Given the description of an element on the screen output the (x, y) to click on. 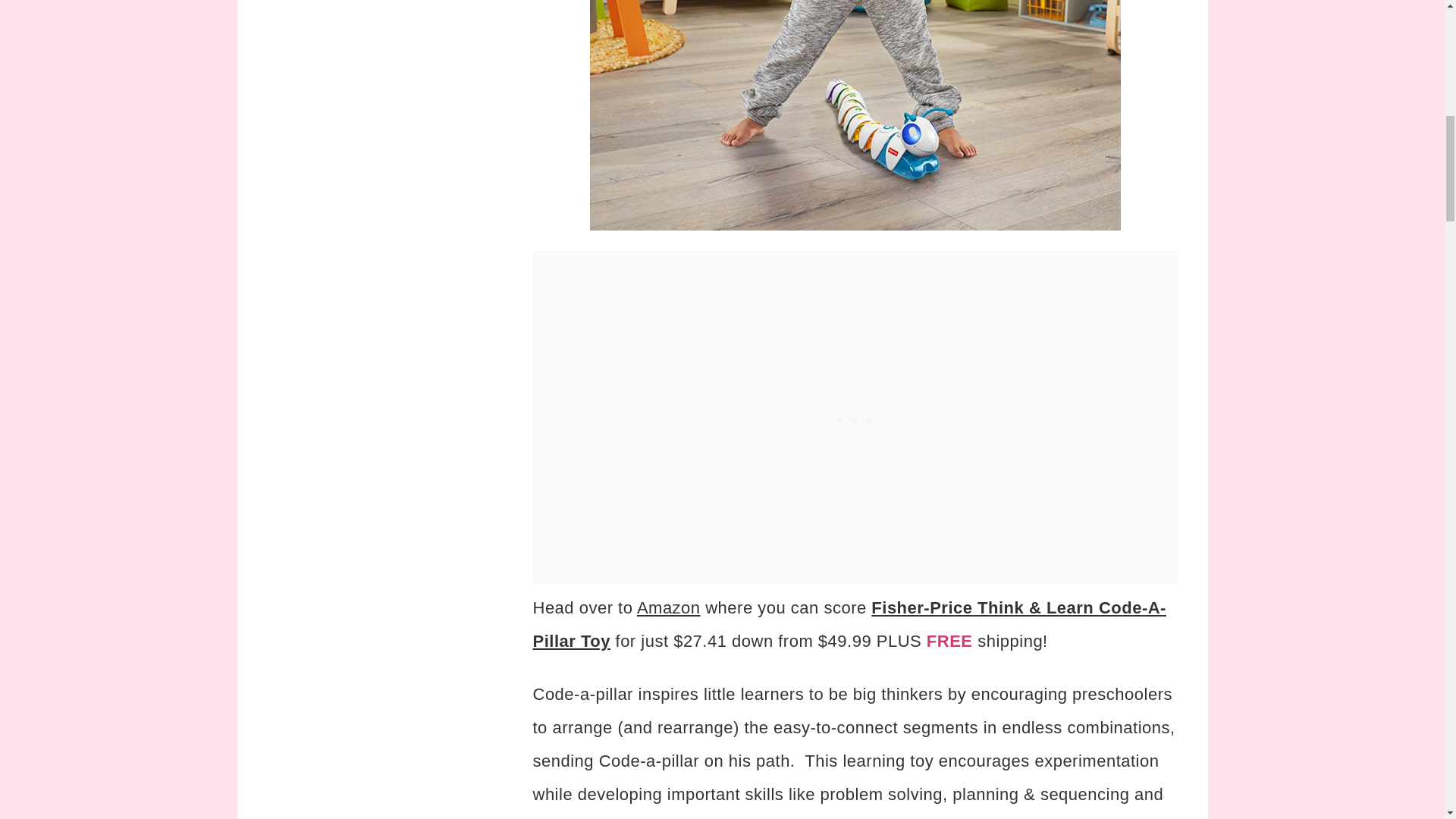
Amazon (668, 607)
